Given the description of an element on the screen output the (x, y) to click on. 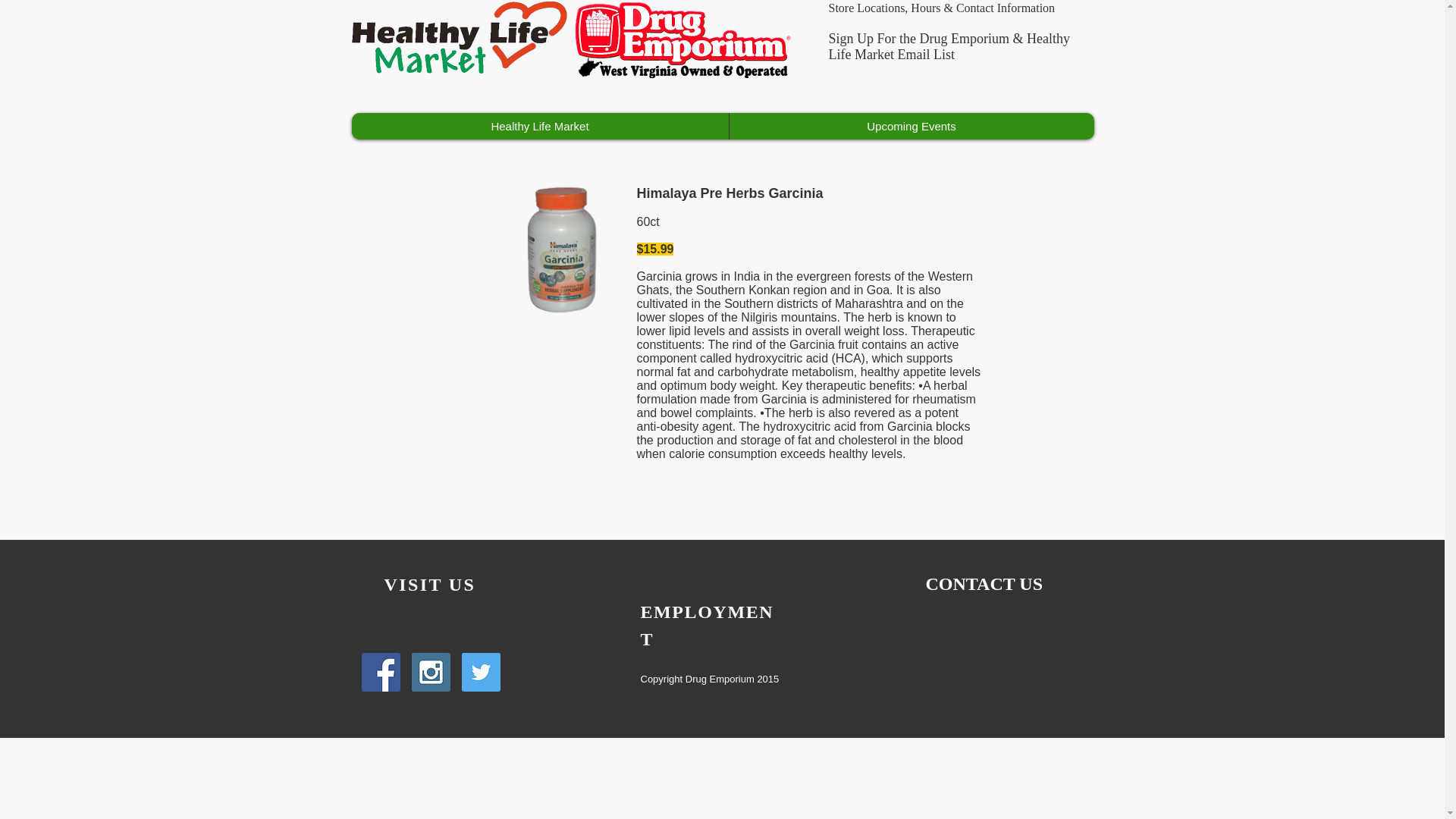
Upcoming Events (910, 126)
Healthy Life Market (540, 126)
CONTACT US (983, 583)
EMPLOYMENT (706, 638)
HLM-Himalaya-Garcinia-150x150.png (561, 249)
